Given the description of an element on the screen output the (x, y) to click on. 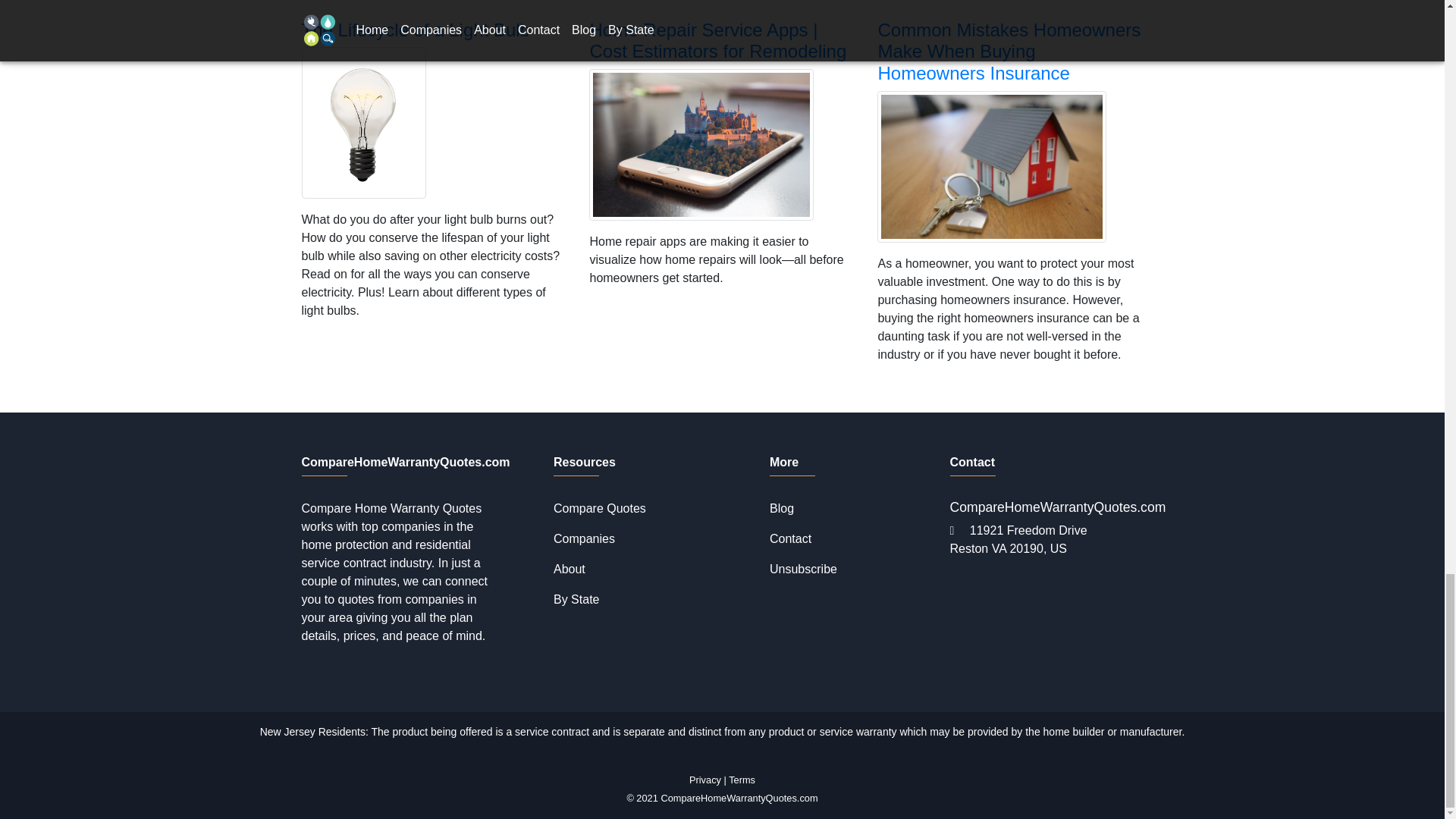
By State (575, 599)
Compare Quotes (599, 508)
The Lifecycle of a Light Bulb (416, 29)
About (569, 568)
Companies (583, 538)
